Given the description of an element on the screen output the (x, y) to click on. 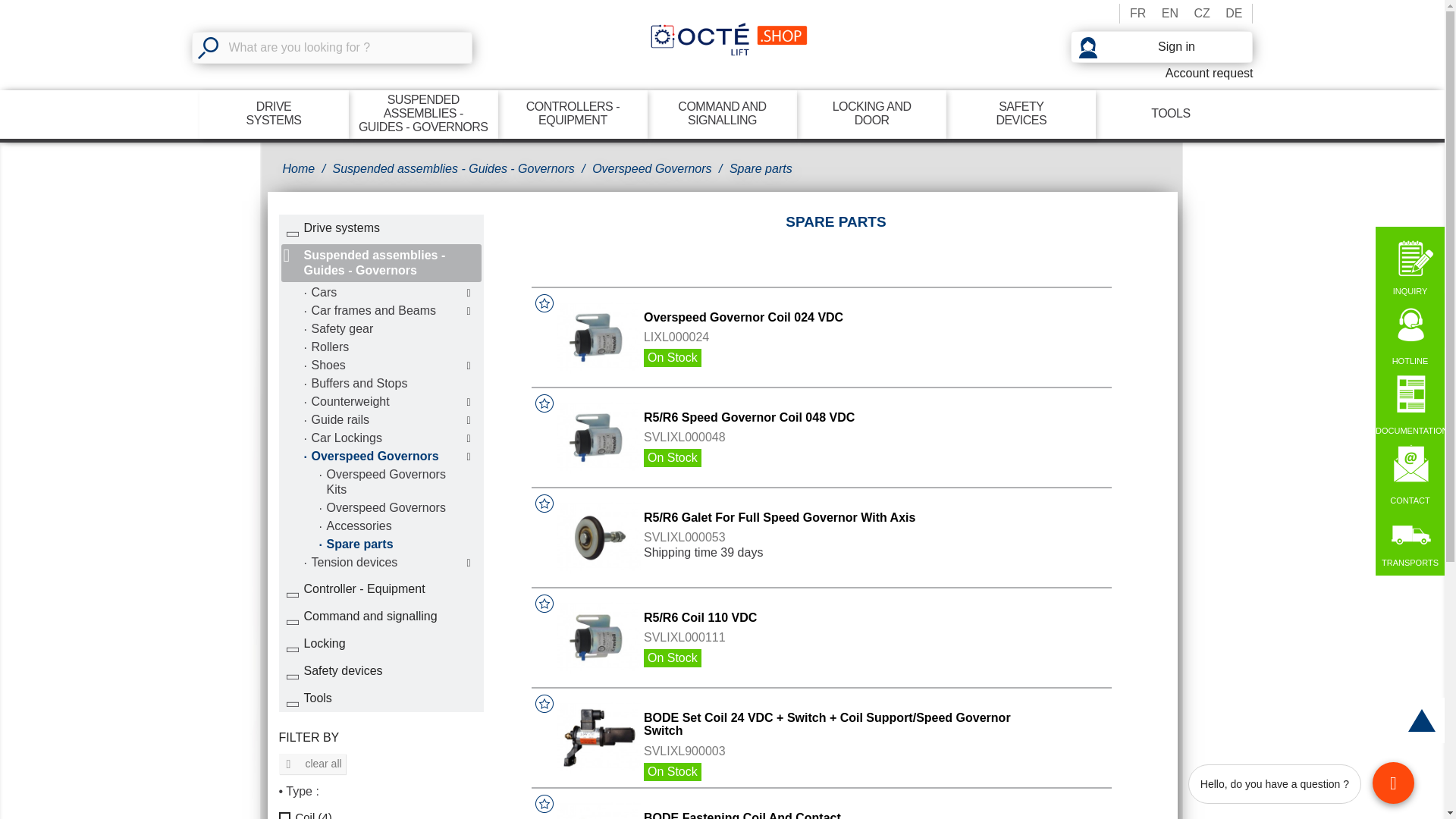
DE (1233, 13)
CZ (1201, 13)
Sign in (1161, 47)
Log in to your customer account (1161, 47)
Account request (1161, 73)
FR (272, 114)
EN (1137, 13)
